Given the description of an element on the screen output the (x, y) to click on. 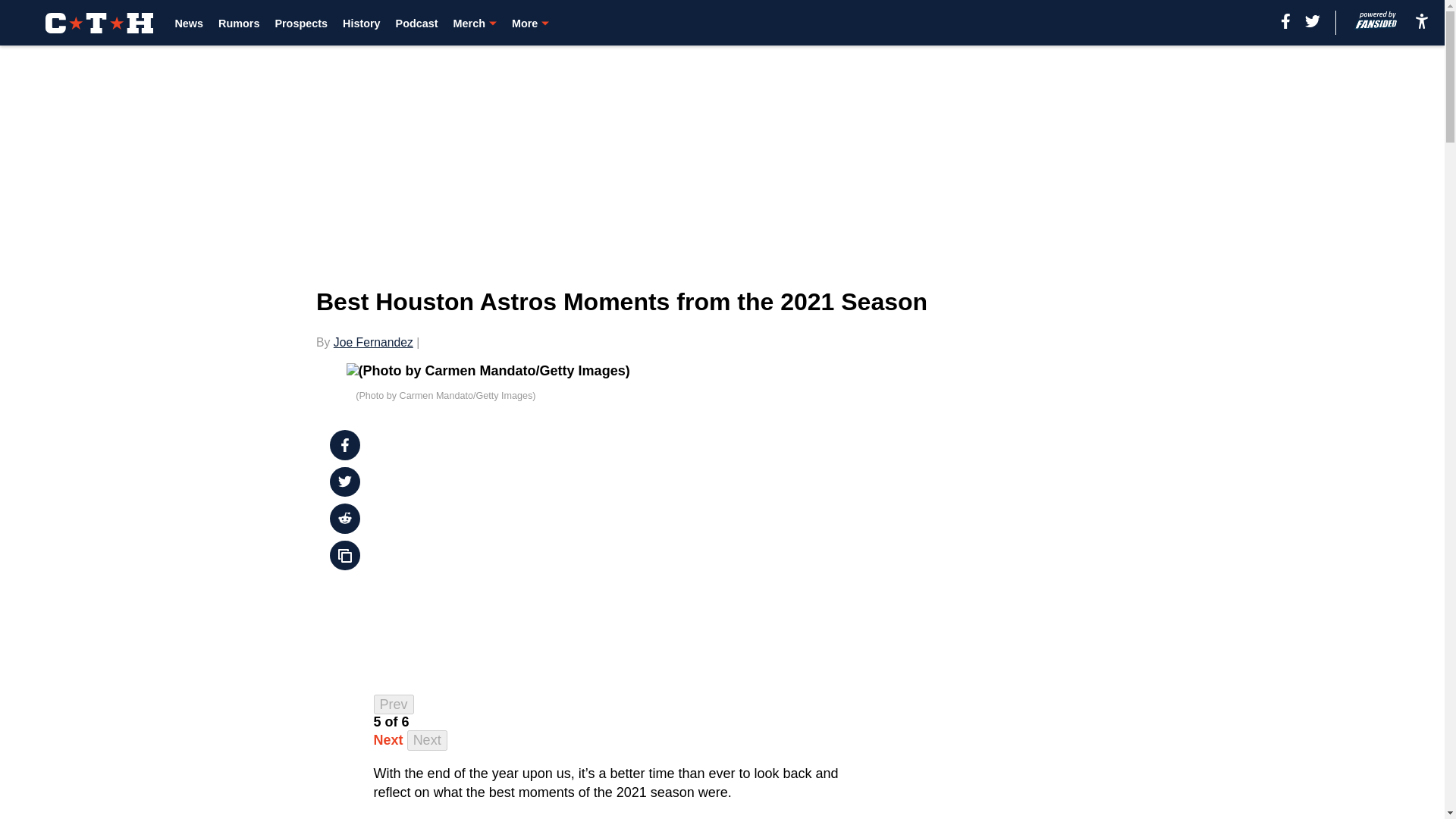
Next (388, 739)
News (188, 23)
Prospects (301, 23)
Podcast (417, 23)
Next (426, 740)
Prev (393, 704)
Rumors (238, 23)
History (361, 23)
Joe Fernandez (373, 341)
